Given the description of an element on the screen output the (x, y) to click on. 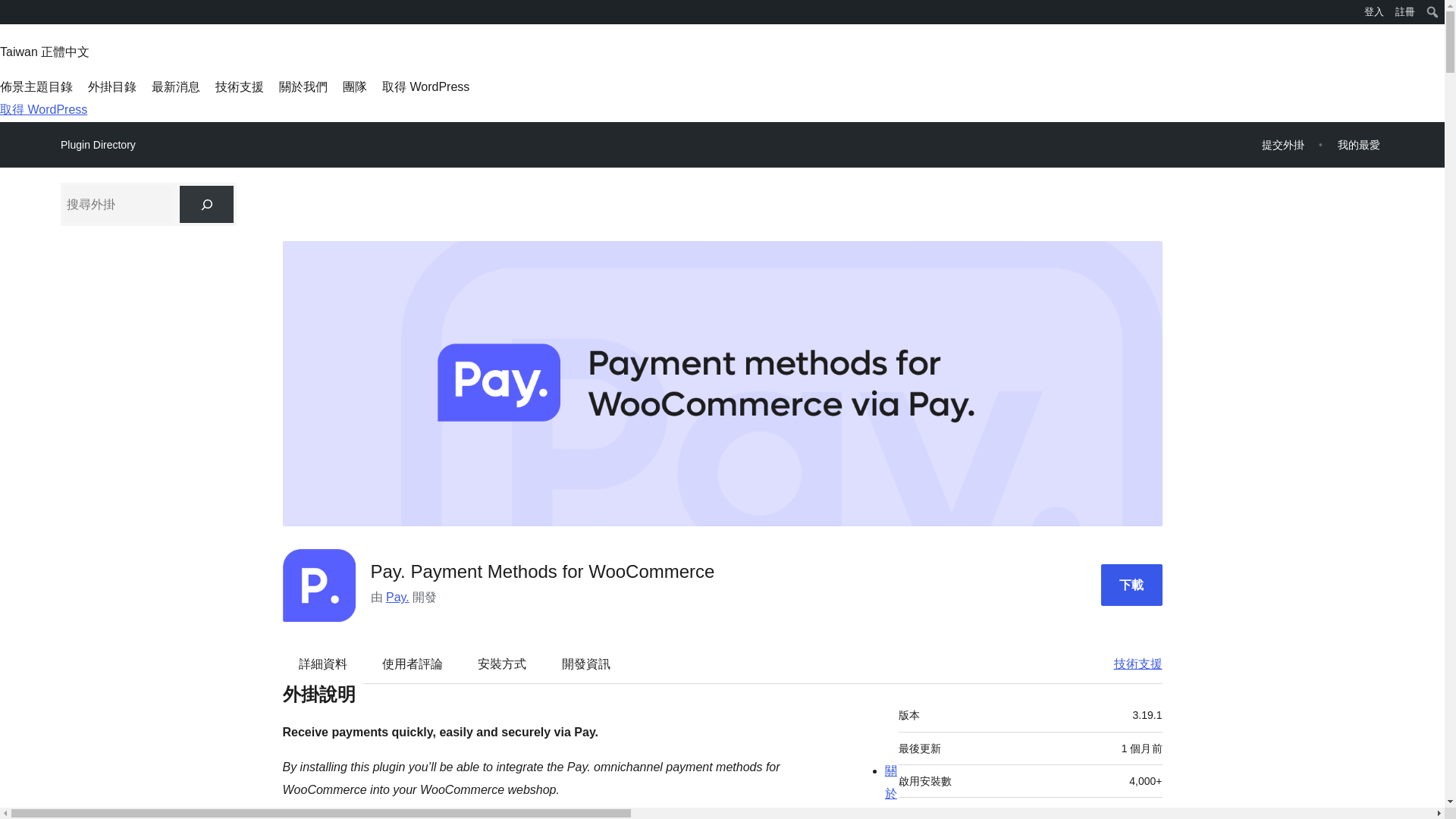
WordPress.org (10, 10)
Pay. (397, 596)
WordPress.org (10, 16)
Plugin Directory (97, 144)
